Given the description of an element on the screen output the (x, y) to click on. 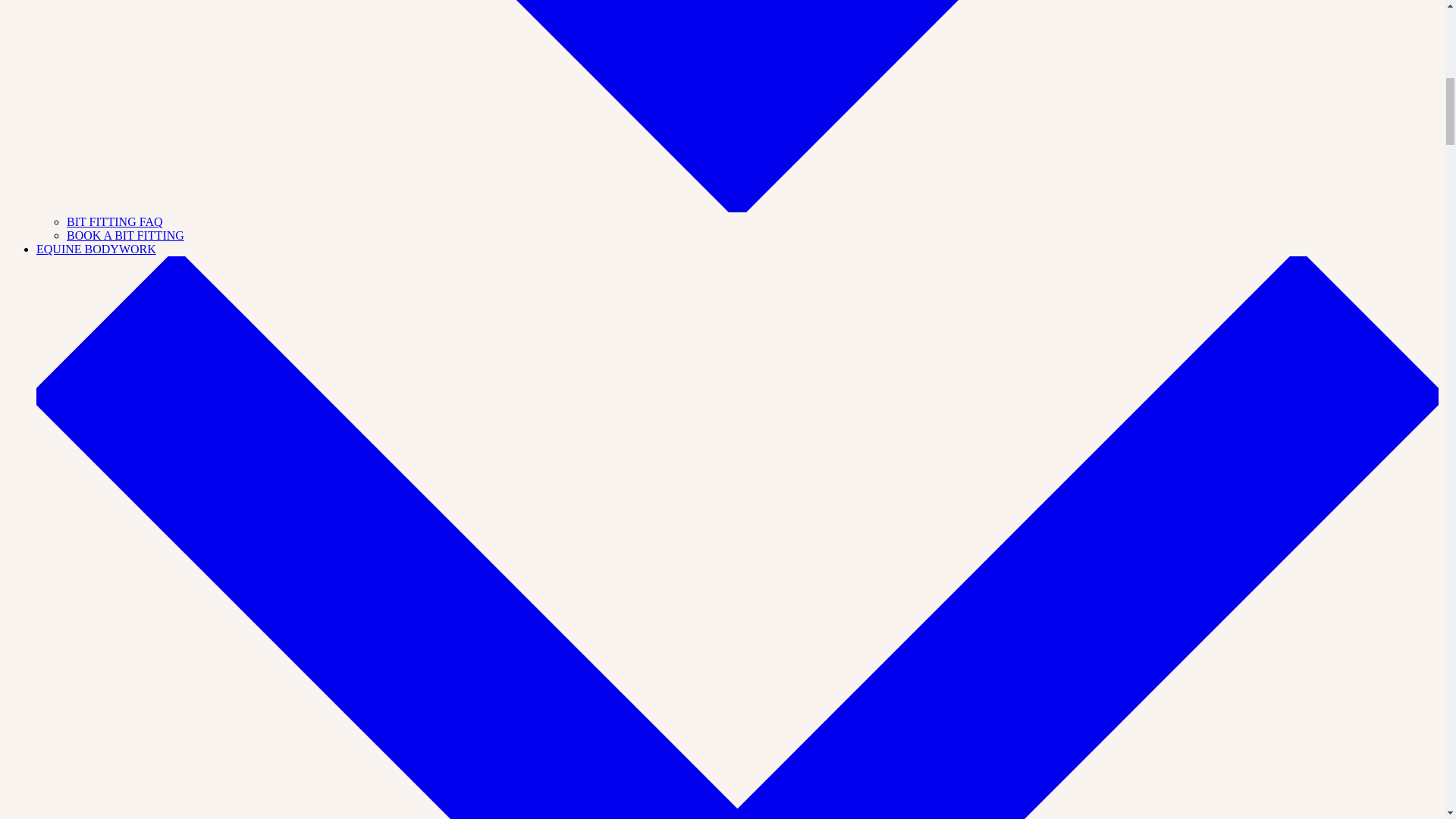
BOOK A BIT FITTING (125, 235)
BIT FITTING FAQ (114, 221)
